Given the description of an element on the screen output the (x, y) to click on. 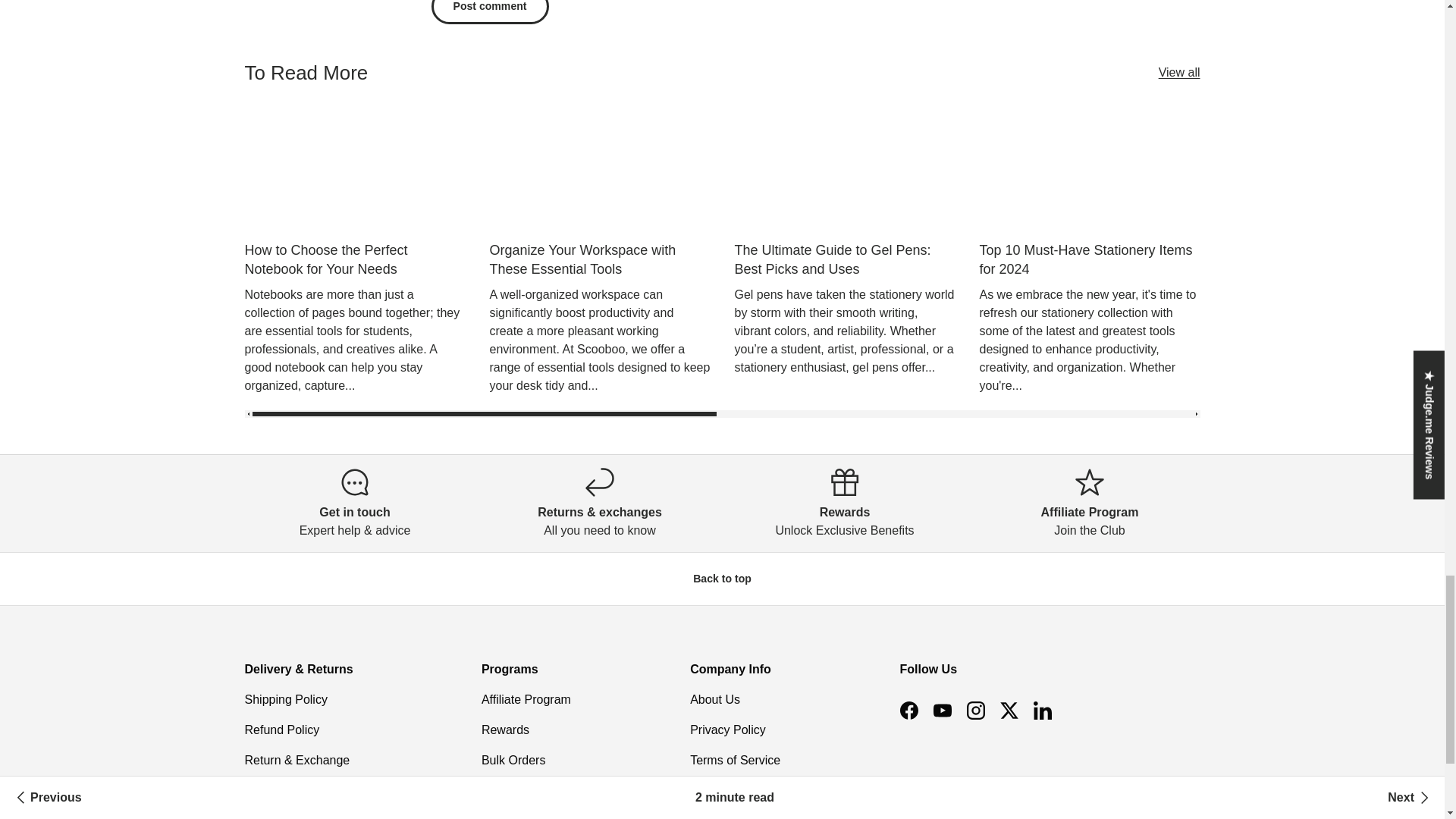
SCOOBOO  on YouTube (941, 710)
SCOOBOO  on Twitter (1008, 710)
SCOOBOO  on LinkedIn (1041, 710)
SCOOBOO  on Instagram (974, 710)
SCOOBOO  on Facebook (907, 710)
